Given the description of an element on the screen output the (x, y) to click on. 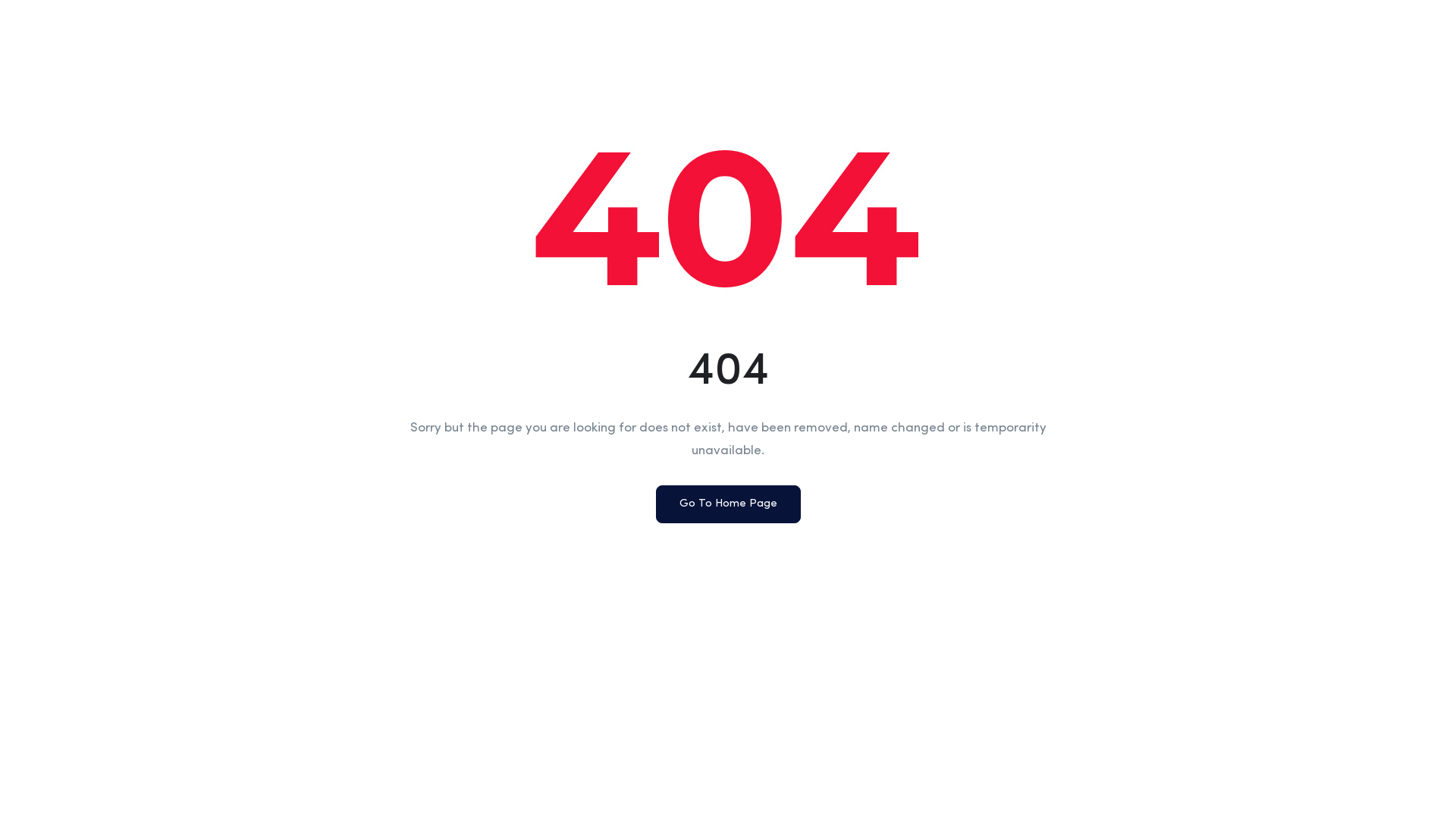
Go To Home Page Element type: text (727, 504)
